Given the description of an element on the screen output the (x, y) to click on. 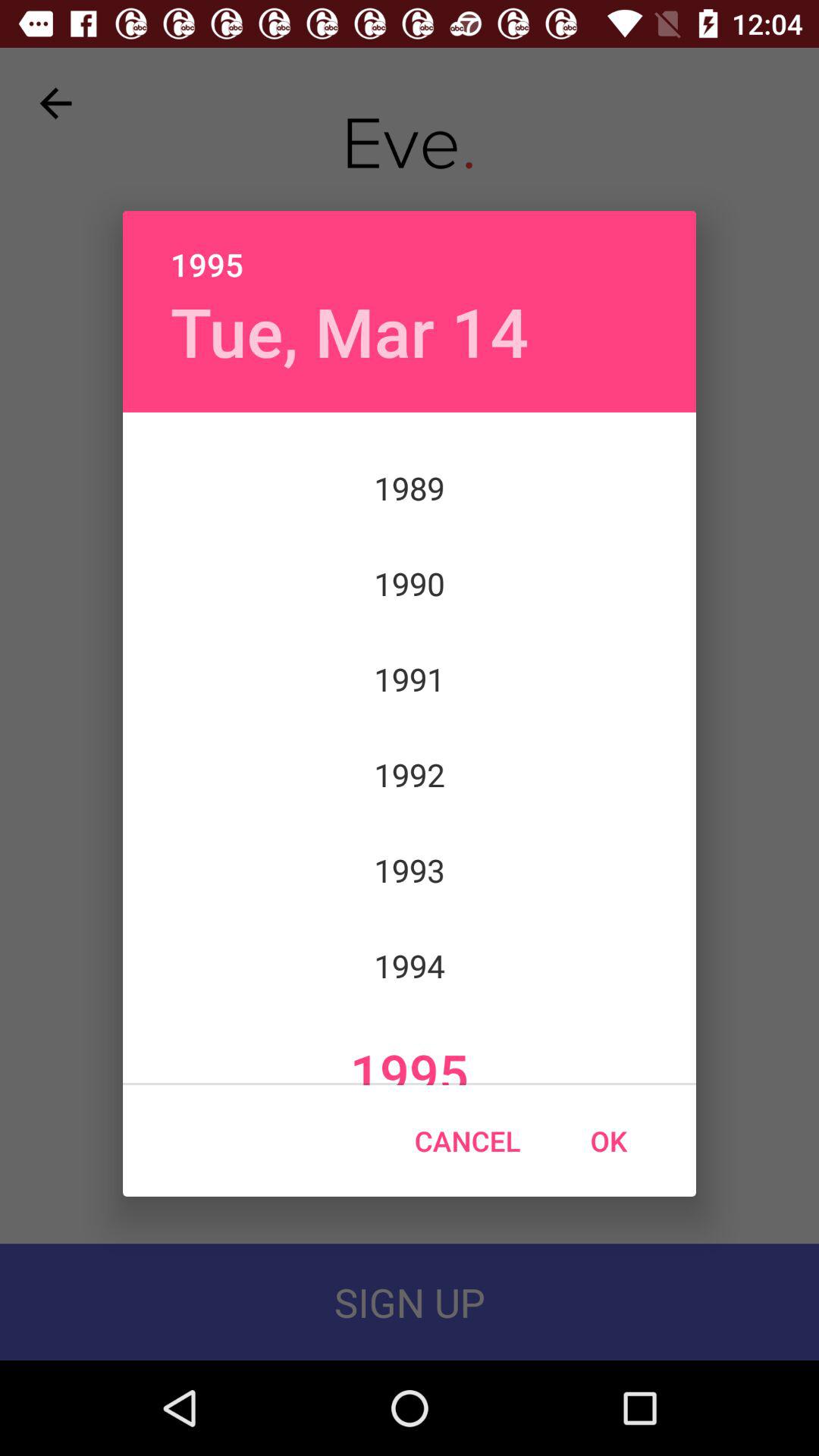
launch item above the 1988 icon (349, 331)
